Given the description of an element on the screen output the (x, y) to click on. 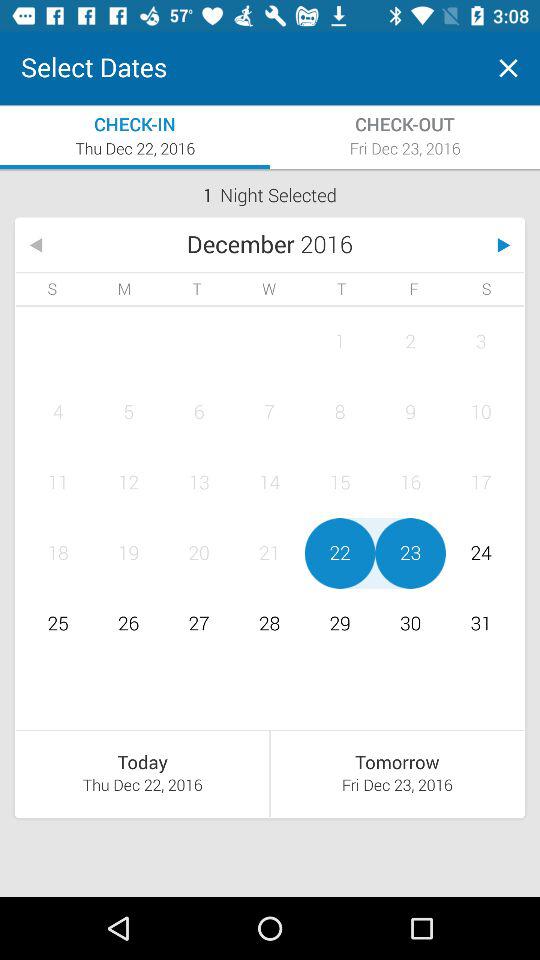
exit out (508, 67)
